Given the description of an element on the screen output the (x, y) to click on. 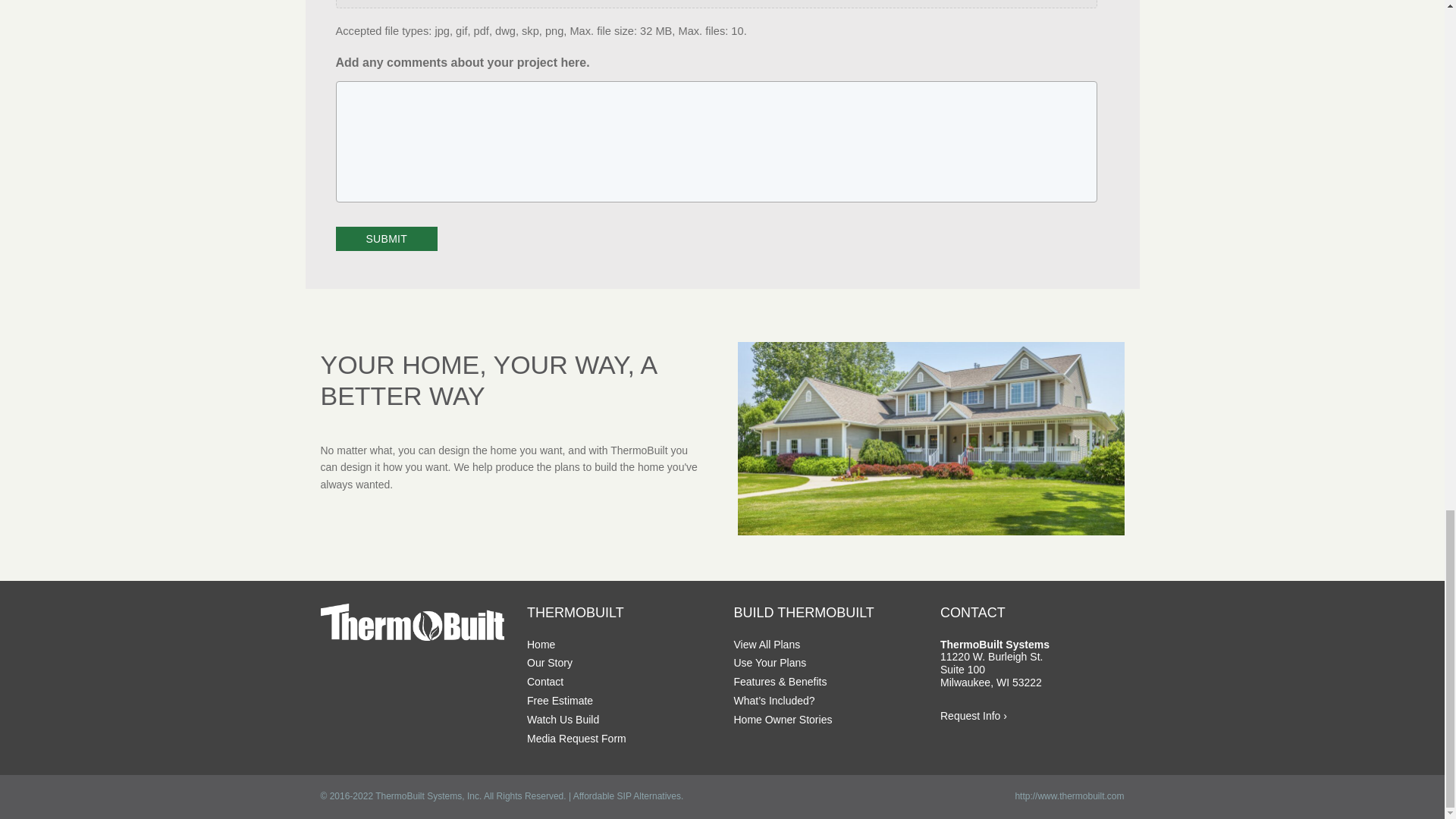
Submit (386, 238)
